Given the description of an element on the screen output the (x, y) to click on. 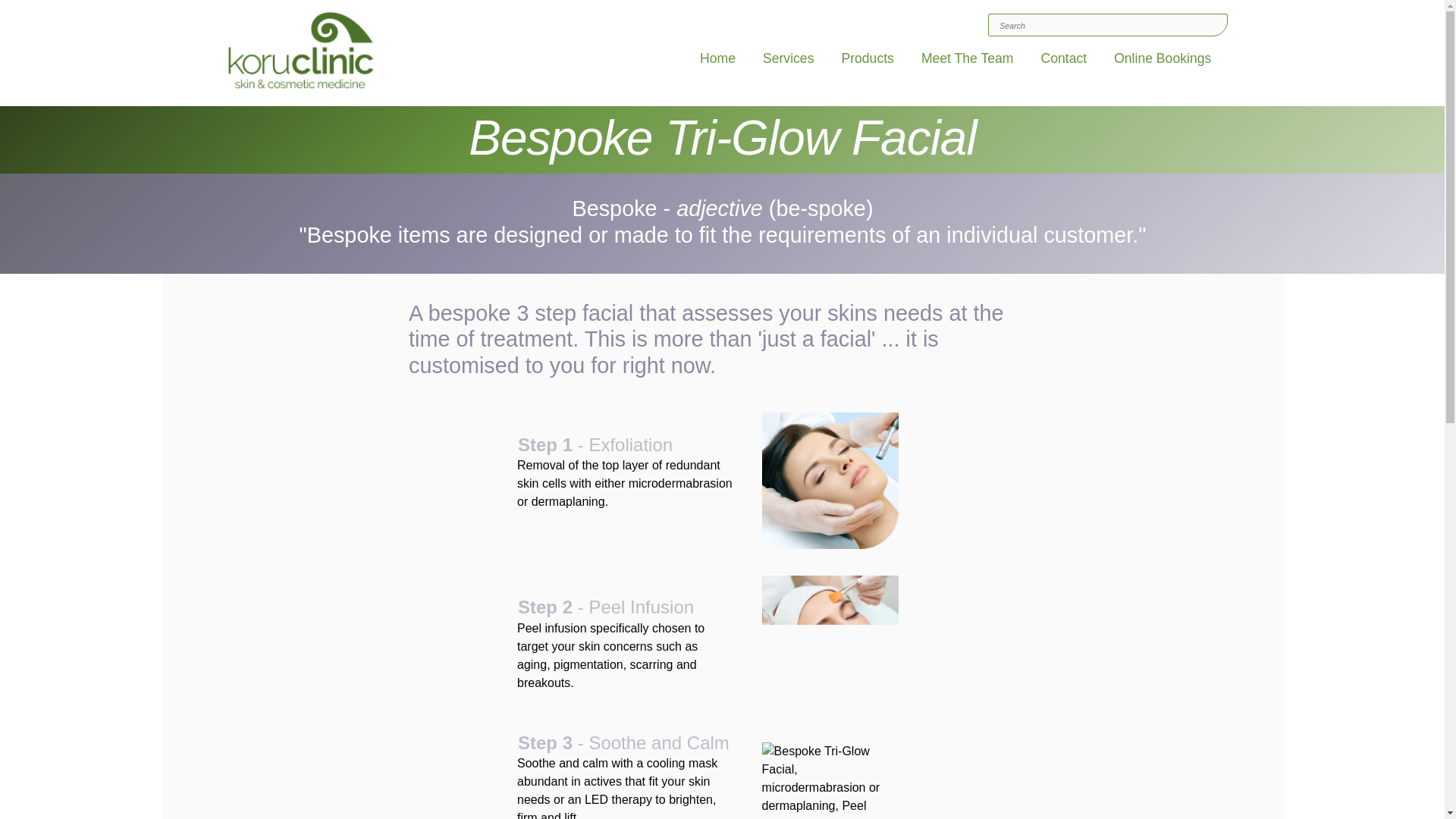
Services (790, 60)
GO (999, 27)
Koru Skin and cosmetic medicine (301, 51)
Home (720, 60)
treatments and services for your skin (790, 60)
